Given the description of an element on the screen output the (x, y) to click on. 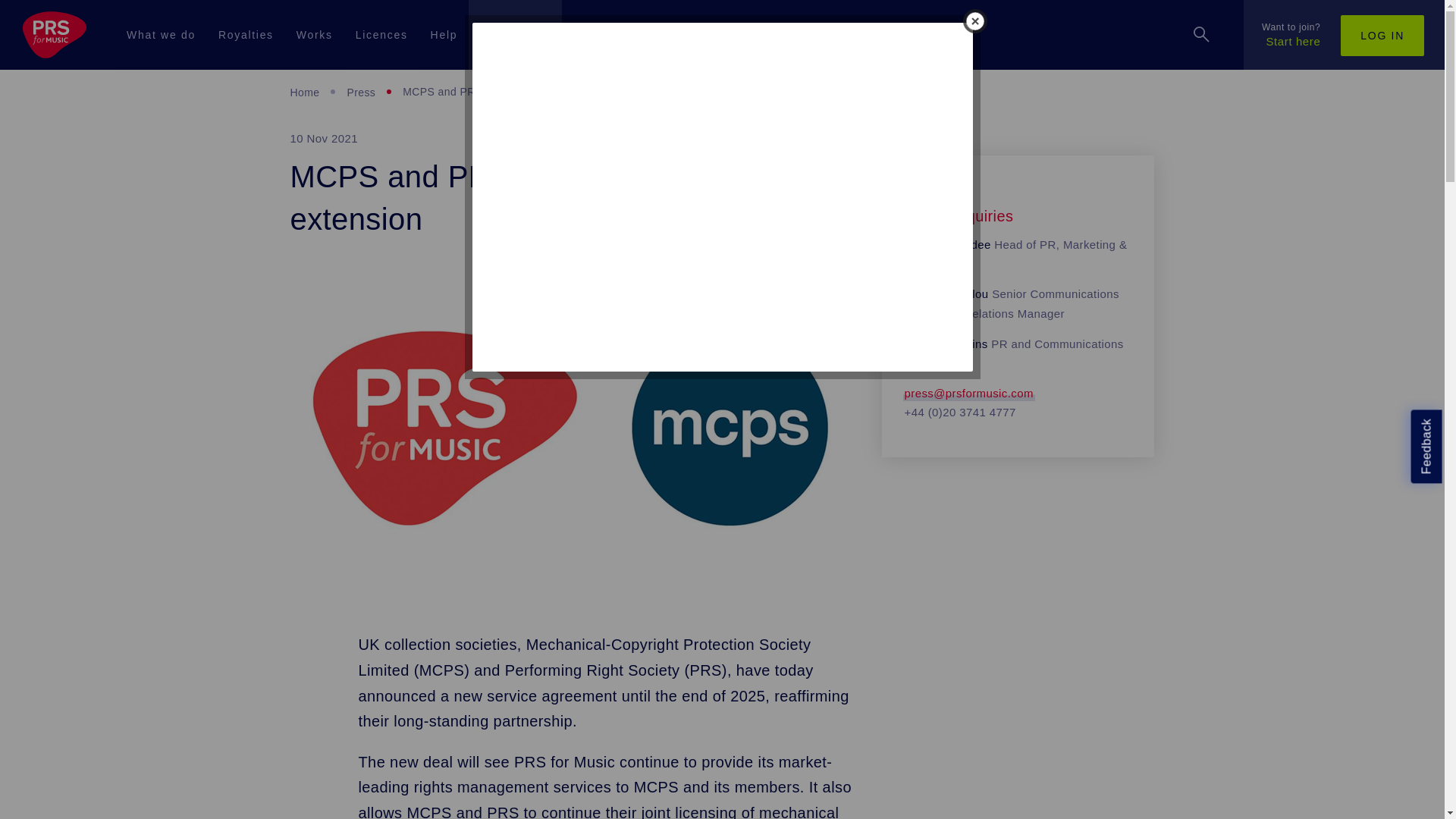
Home (303, 92)
PRS for Music (54, 34)
Works (314, 34)
Facebook (551, 718)
Help (443, 34)
PRS for Music (721, 565)
PRS for Music (57, 34)
LOG IN (1381, 35)
Twitter (382, 718)
Linked In (720, 718)
Press (360, 92)
Licences (381, 34)
Royalties (245, 34)
Search (1200, 34)
What we do (160, 34)
